Given the description of an element on the screen output the (x, y) to click on. 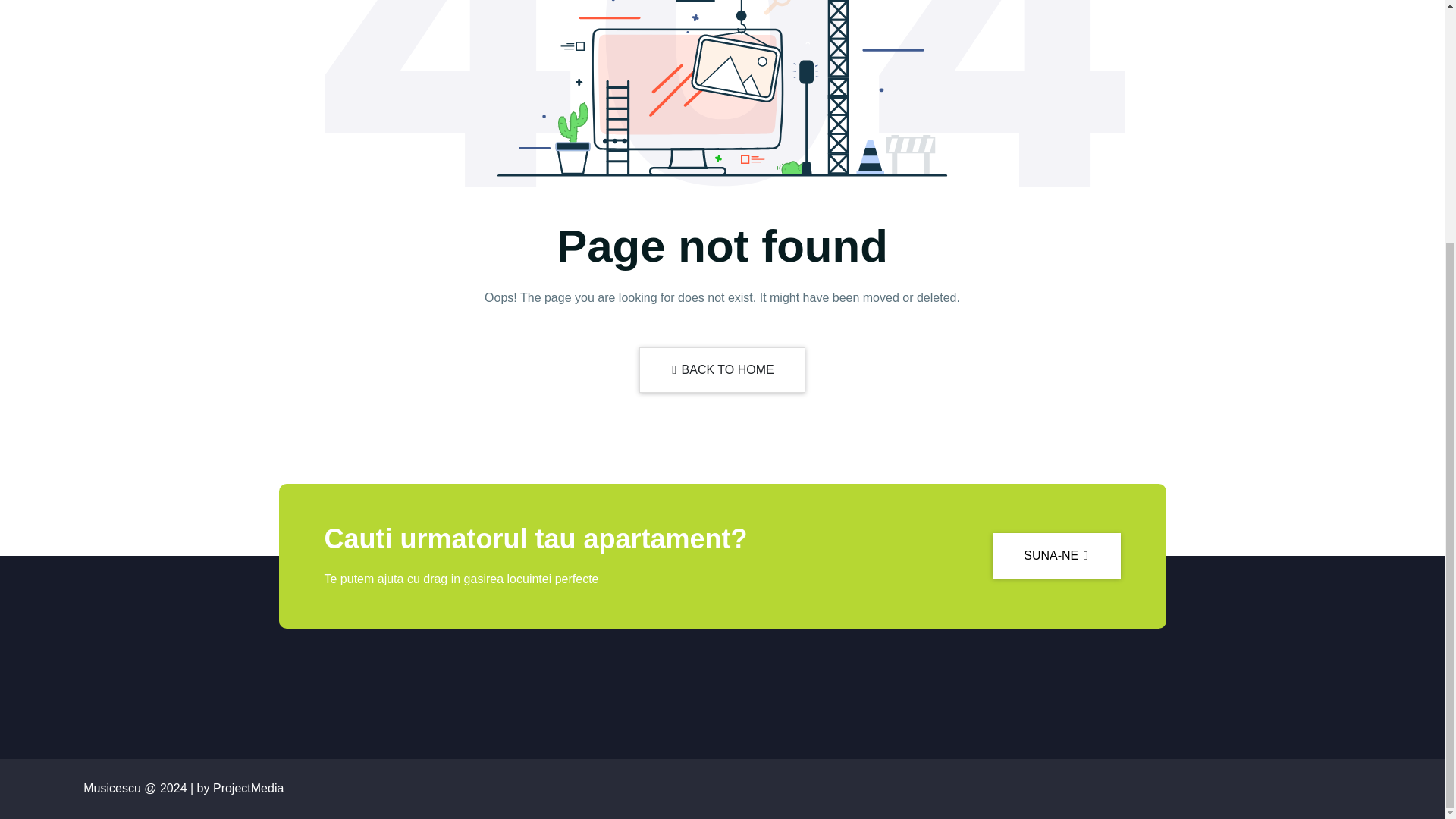
ProjectMedia (247, 788)
SUNA-NE (1055, 555)
BACK TO HOME (722, 370)
